Given the description of an element on the screen output the (x, y) to click on. 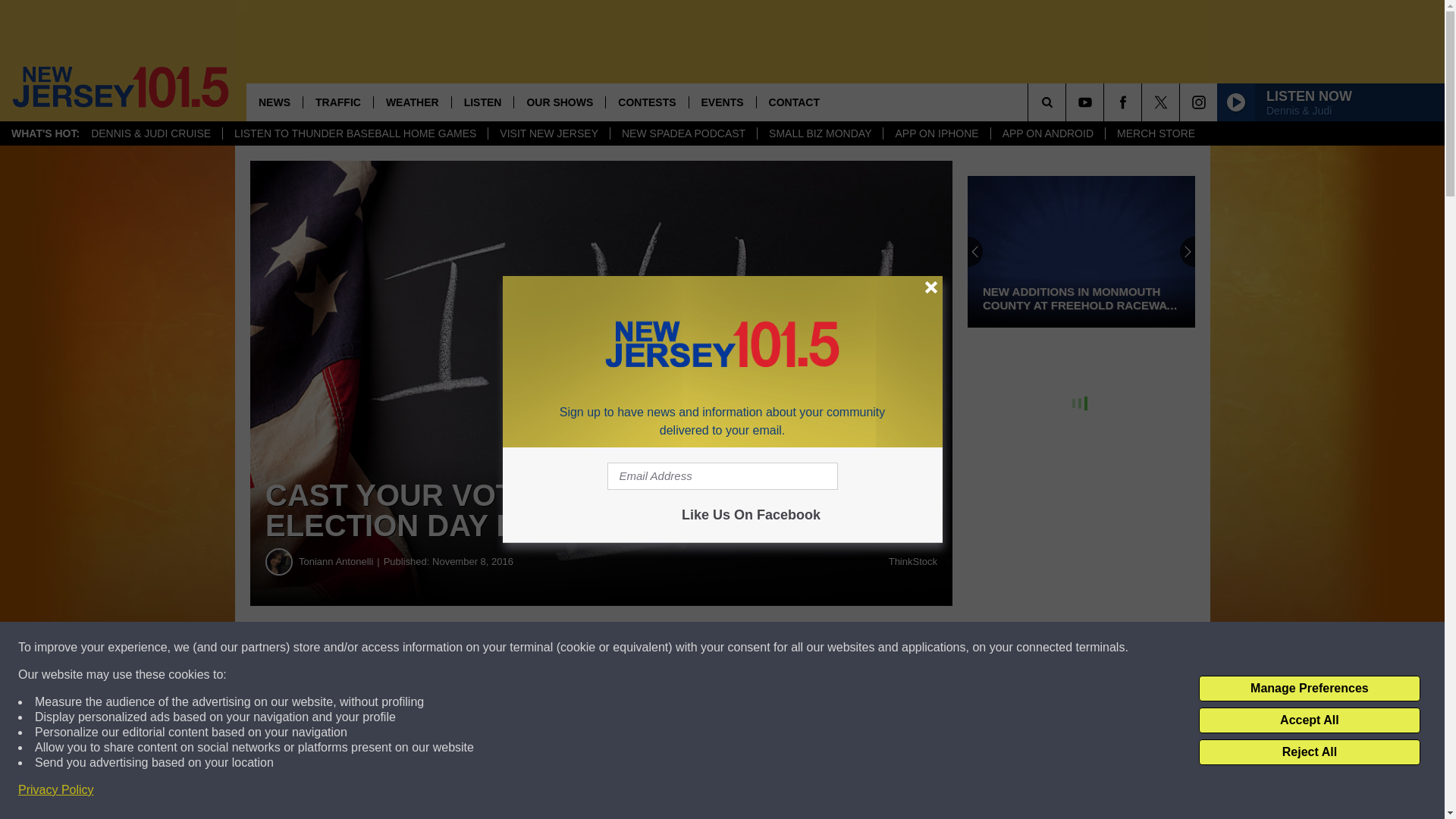
NEWS (274, 102)
WEATHER (411, 102)
APP ON IPHONE (936, 133)
Privacy Policy (55, 789)
SEARCH (1068, 102)
VISIT NEW JERSEY (548, 133)
TRAFFIC (337, 102)
NEW SPADEA PODCAST (683, 133)
APP ON ANDROID (1047, 133)
SEARCH (1068, 102)
Reject All (1309, 751)
LISTEN TO THUNDER BASEBALL HOME GAMES (354, 133)
Accept All (1309, 720)
Share on Facebook (460, 647)
LISTEN (482, 102)
